Given the description of an element on the screen output the (x, y) to click on. 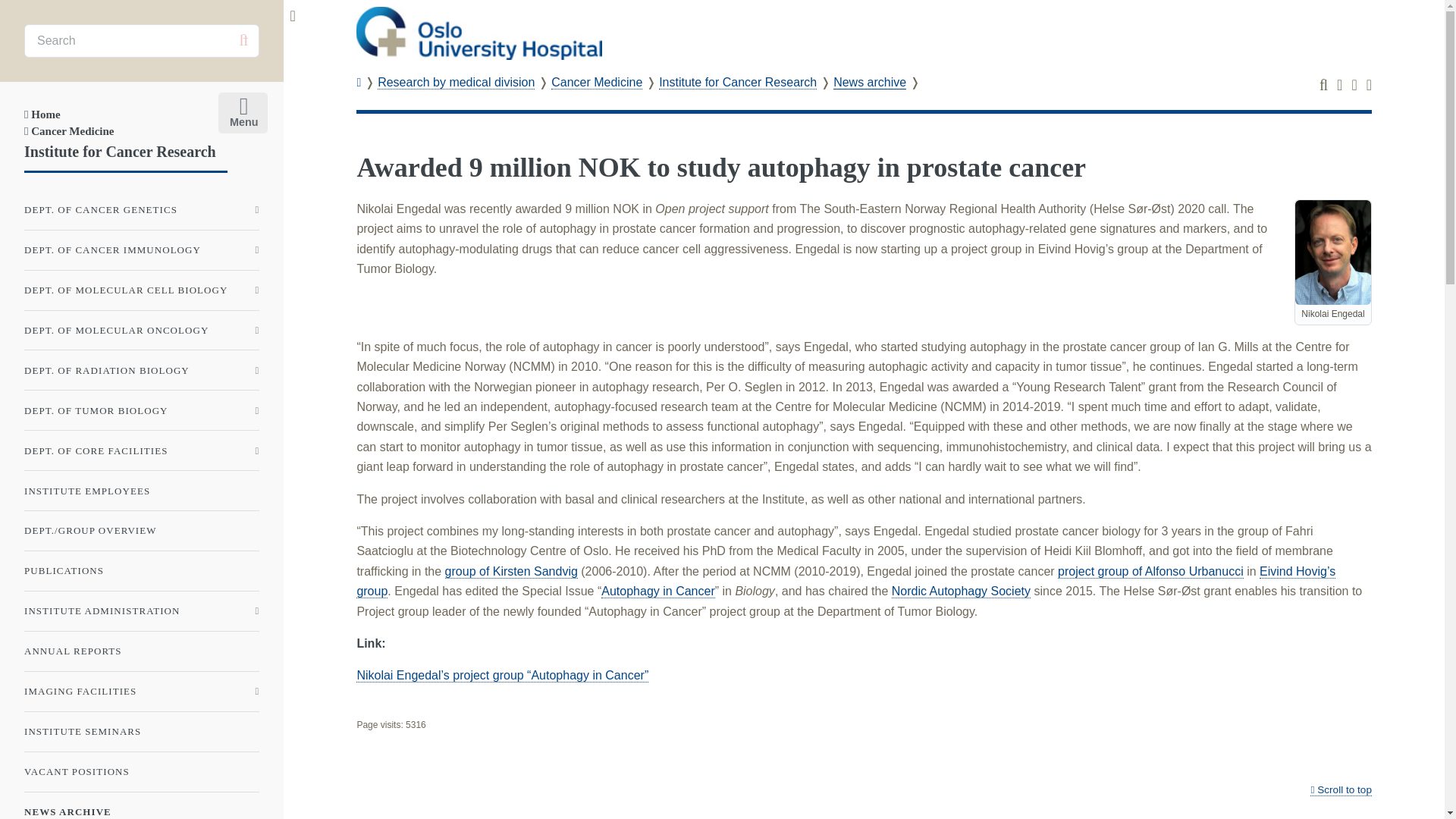
Research by medical division (455, 82)
Institute for Cancer Research (737, 82)
Search (243, 40)
DEPT. OF CORE FACILITIES (141, 450)
News archive (868, 82)
Nordic Autophagy Society (960, 591)
IMAGING FACILITIES (141, 691)
INSTITUTE EMPLOYEES (141, 490)
VACANT POSITIONS (141, 771)
DEPT. OF CANCER IMMUNOLOGY (141, 249)
